Given the description of an element on the screen output the (x, y) to click on. 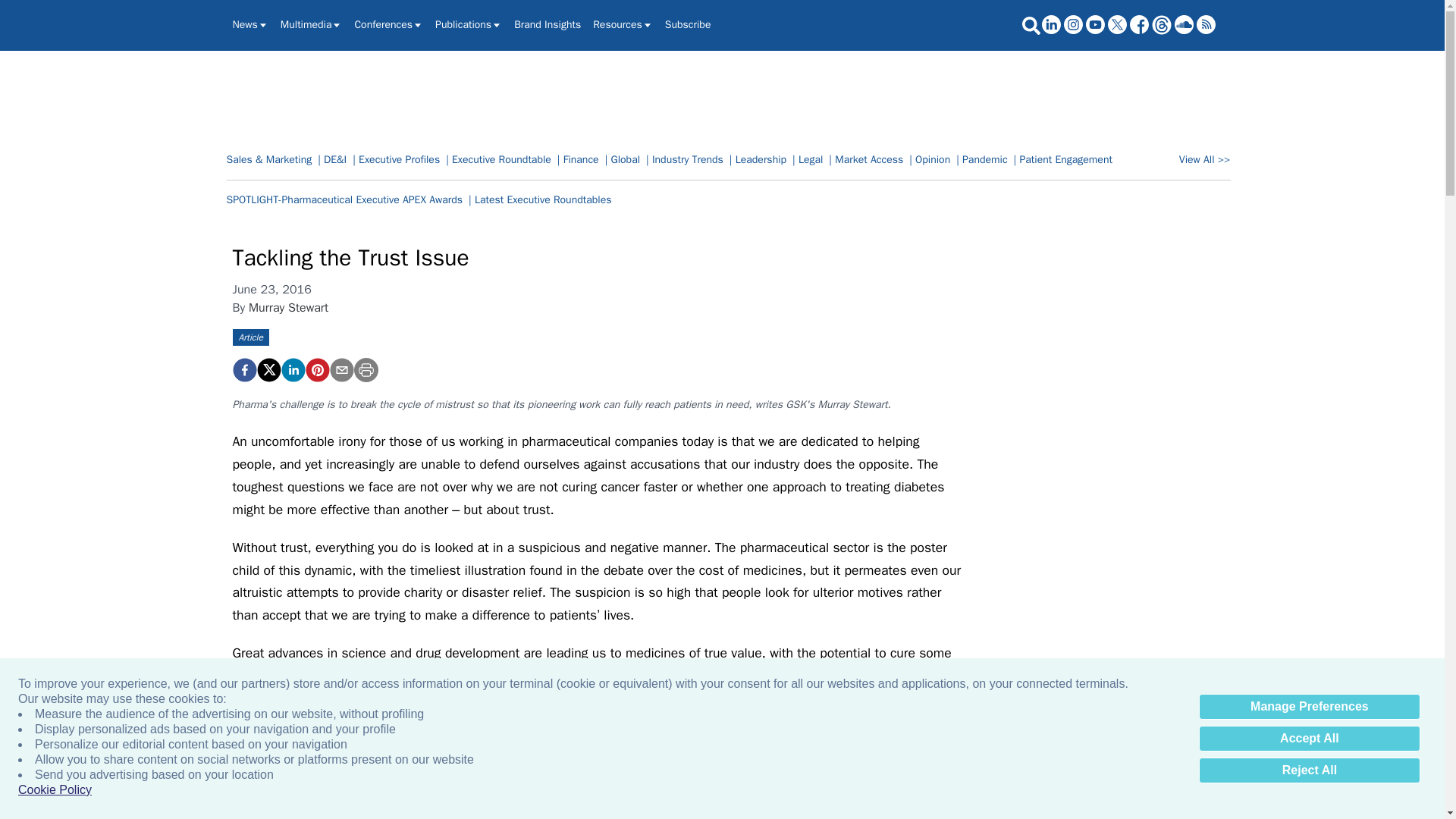
Subscribe (688, 23)
Accept All (1309, 738)
Manage Preferences (1309, 706)
Cookie Policy (54, 789)
Tackling the Trust Issue (316, 369)
Reject All (1309, 769)
Tackling the Trust Issue (243, 369)
Brand Insights (546, 23)
